Given the description of an element on the screen output the (x, y) to click on. 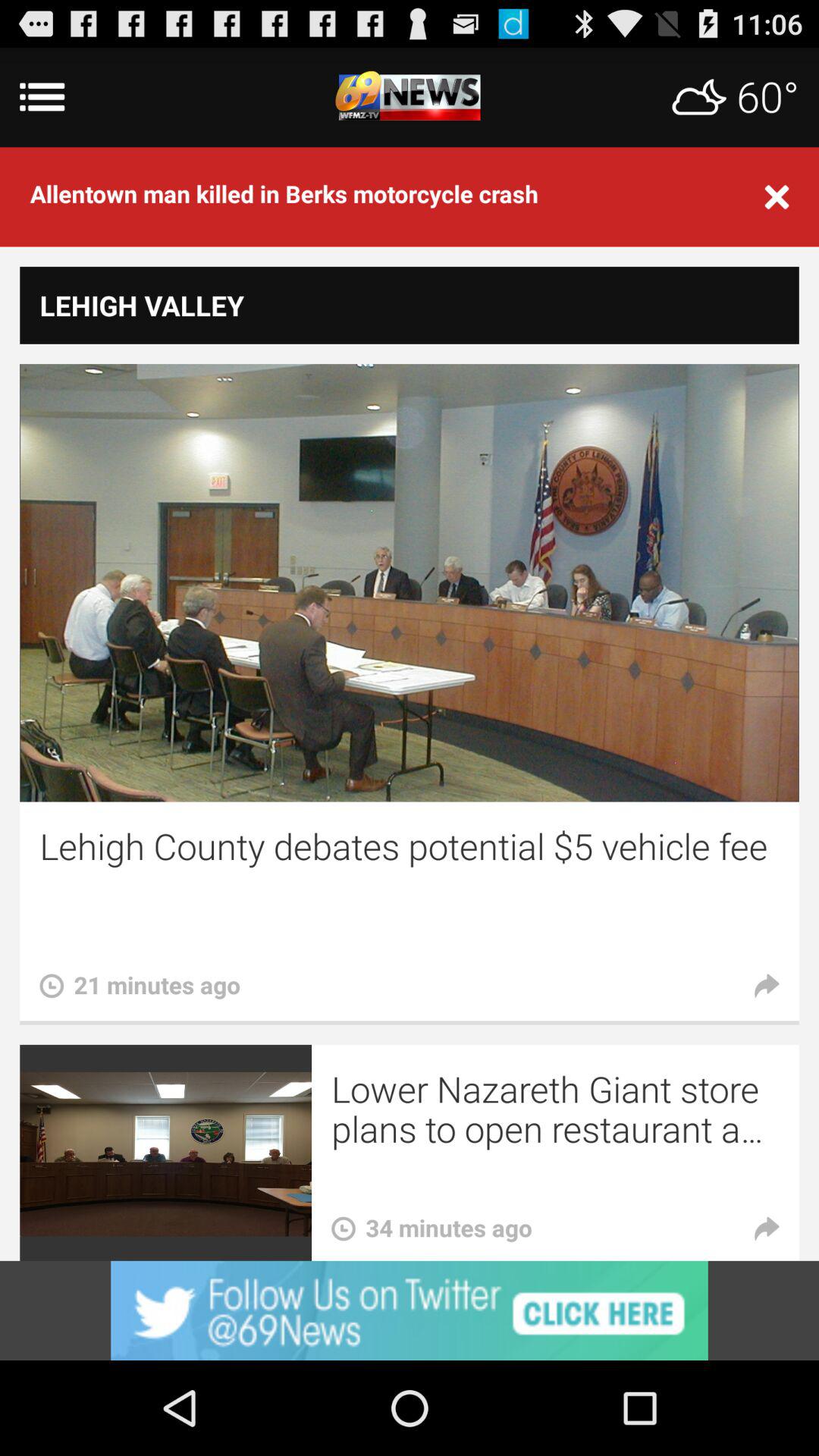
click for advertisement (409, 1310)
